Given the description of an element on the screen output the (x, y) to click on. 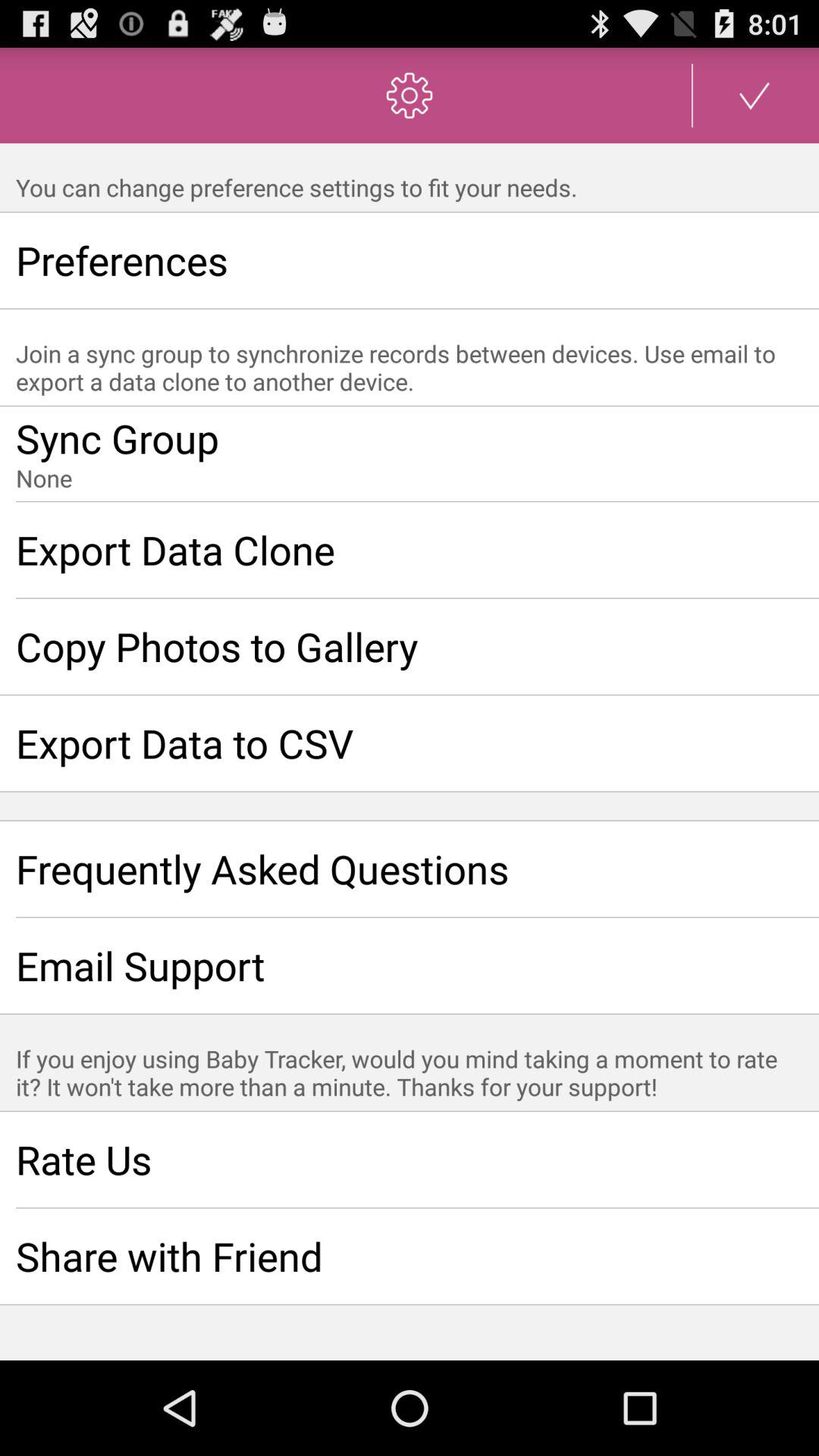
press frequently asked questions icon (409, 868)
